Given the description of an element on the screen output the (x, y) to click on. 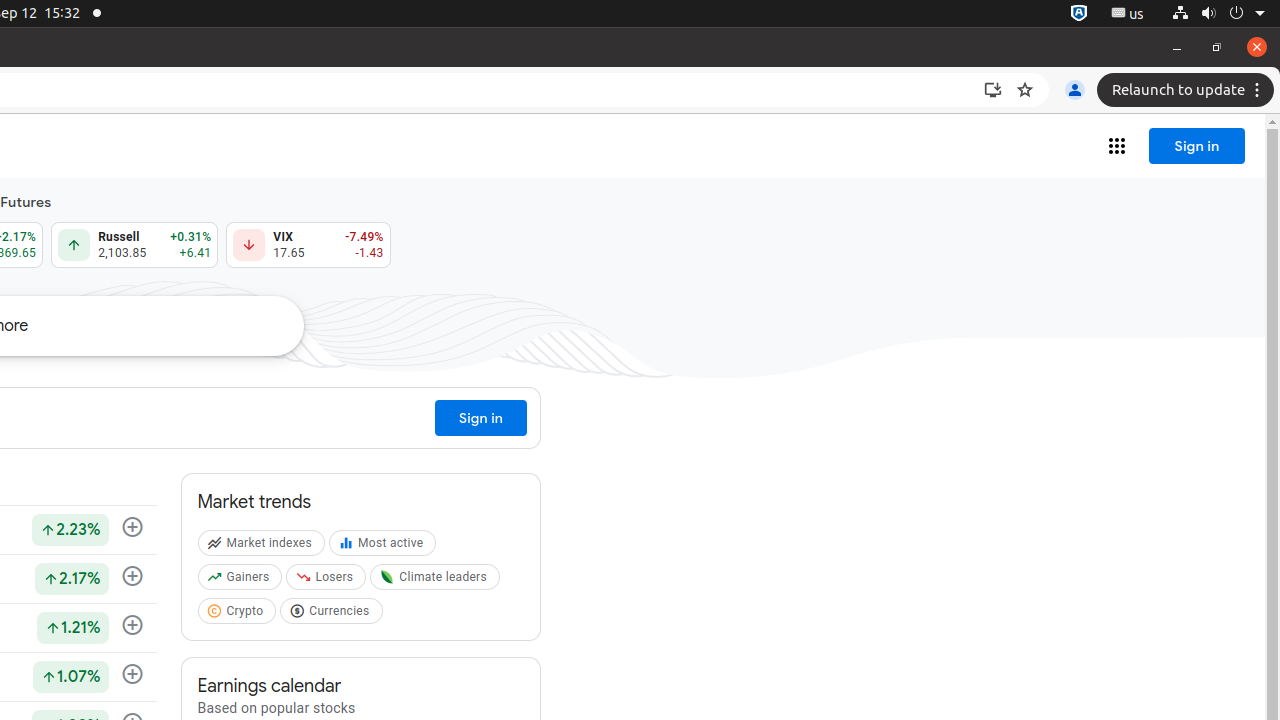
:1.21/StatusNotifierItem Element type: menu (1127, 13)
Gainers Element type: link (242, 581)
Google apps Element type: push-button (1117, 145)
:1.72/StatusNotifierItem Element type: menu (1079, 13)
